Given the description of an element on the screen output the (x, y) to click on. 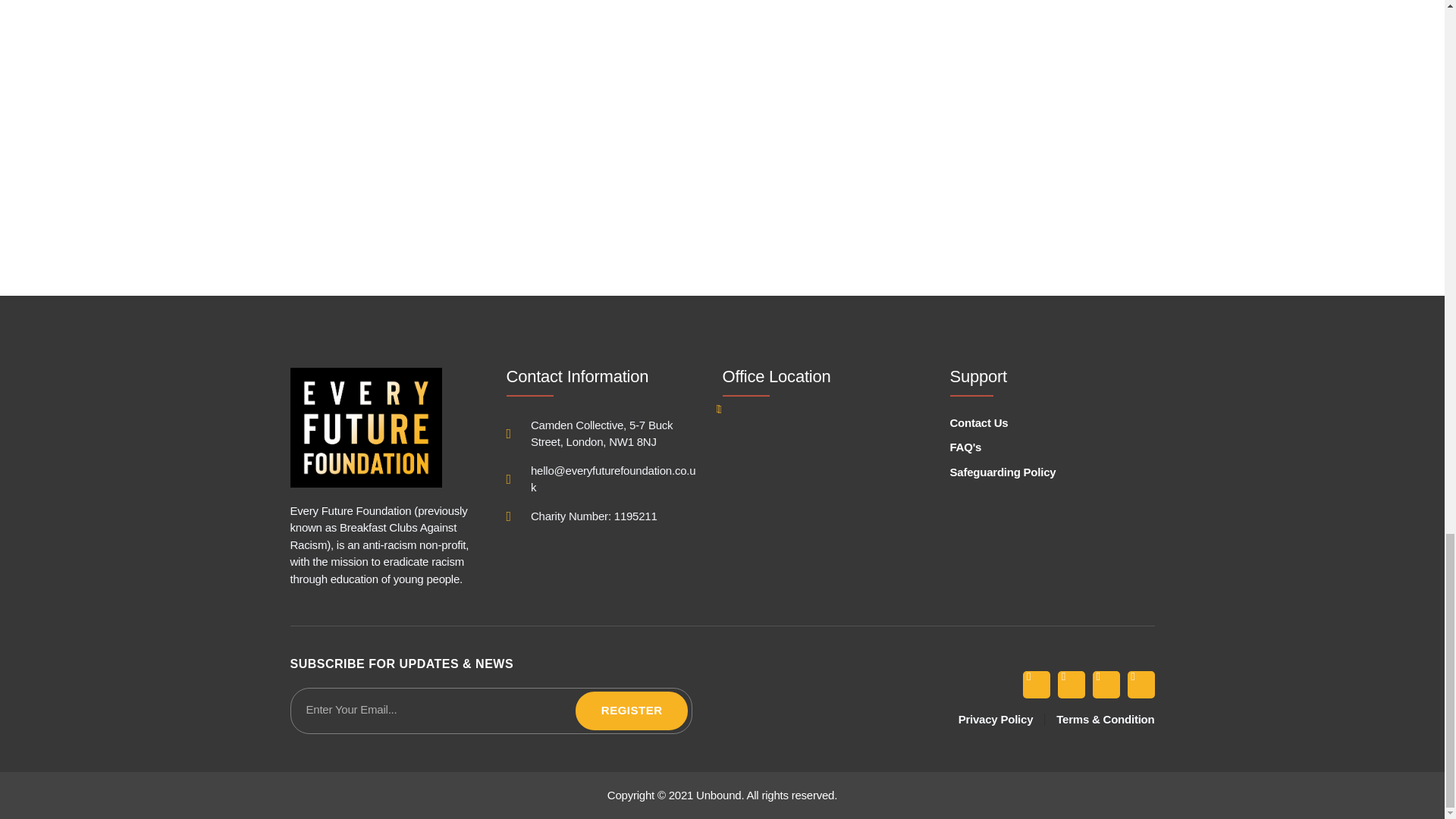
Contact Us (1036, 422)
FAQ's (1036, 447)
REGISTER (631, 710)
Safeguarding Policy (1036, 472)
